Given the description of an element on the screen output the (x, y) to click on. 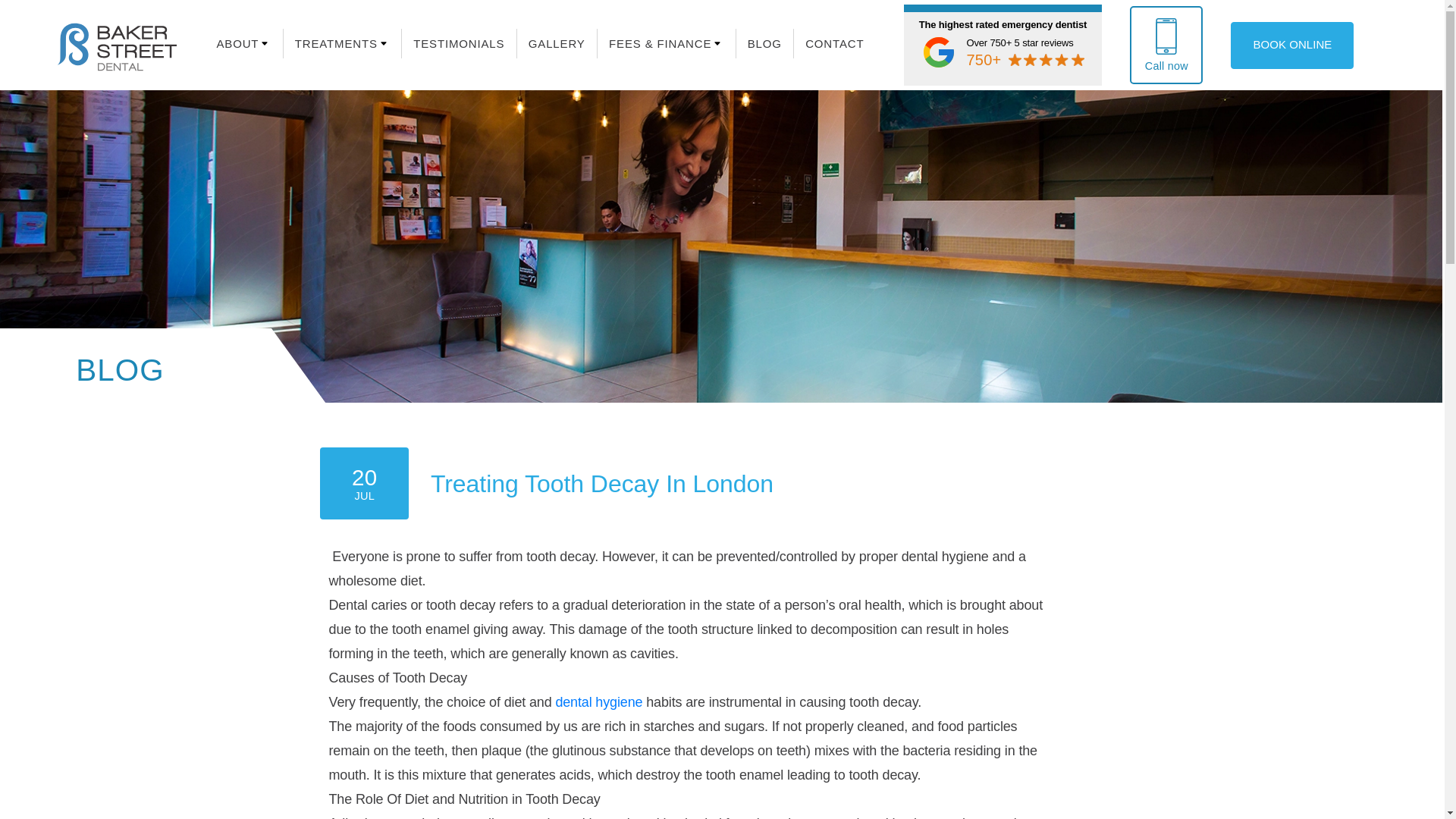
TREATMENTS (336, 42)
ABOUT (237, 42)
